Given the description of an element on the screen output the (x, y) to click on. 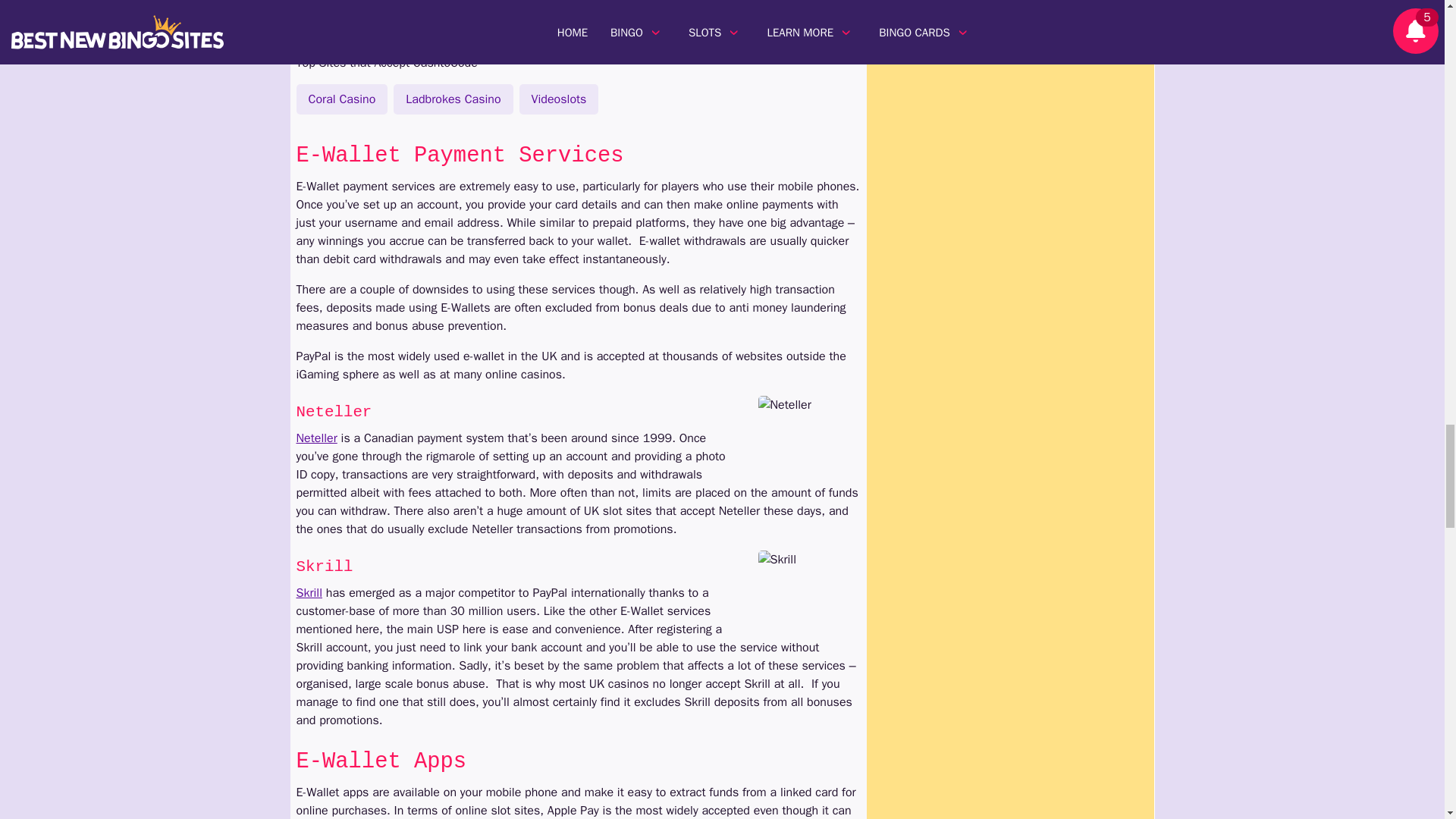
Neteller (809, 429)
